Given the description of an element on the screen output the (x, y) to click on. 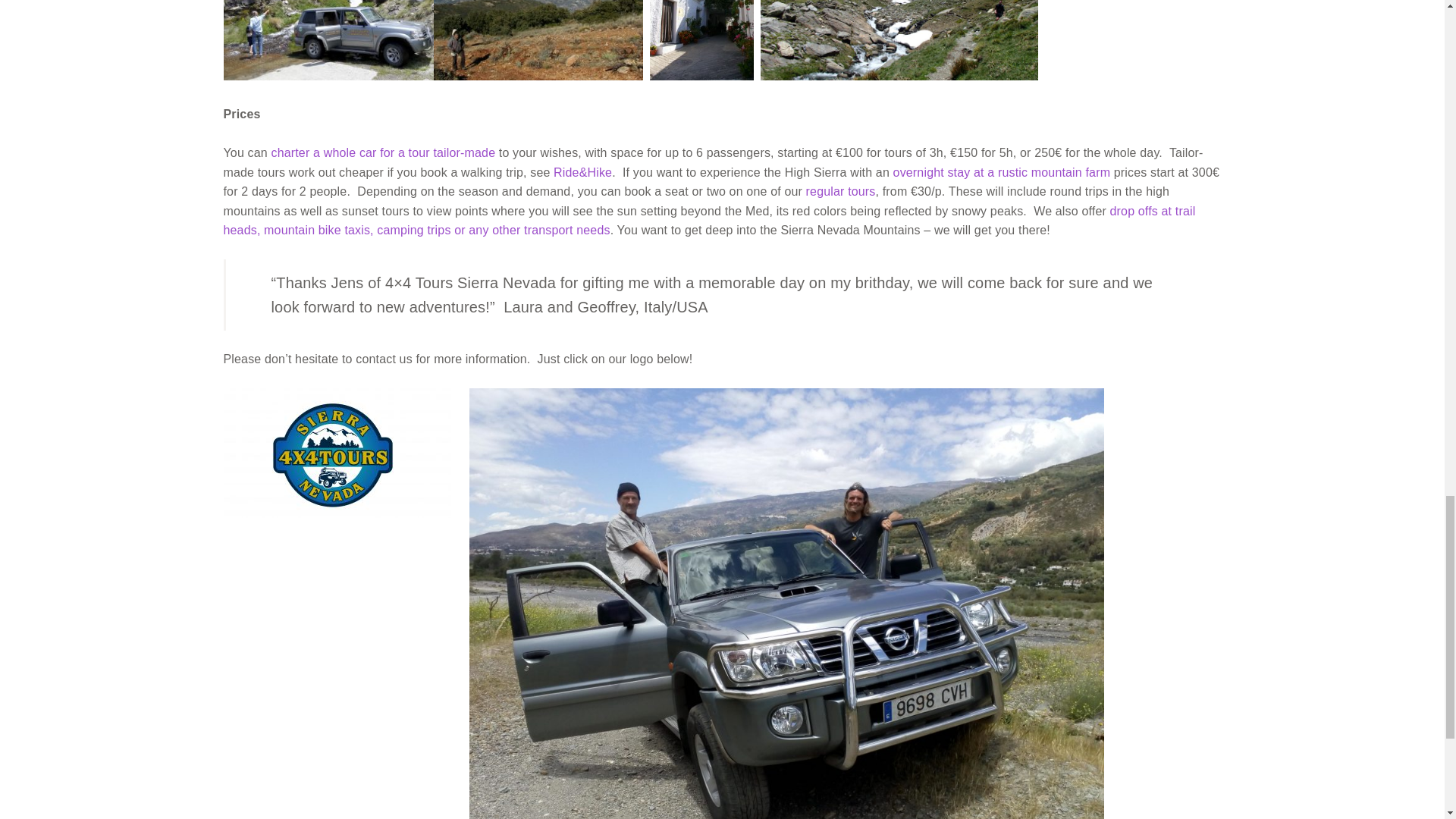
regular tours (841, 191)
charter a whole car for a tour tailor-made (381, 152)
overnight stay at a rustic mountain farm (1001, 172)
